Given the description of an element on the screen output the (x, y) to click on. 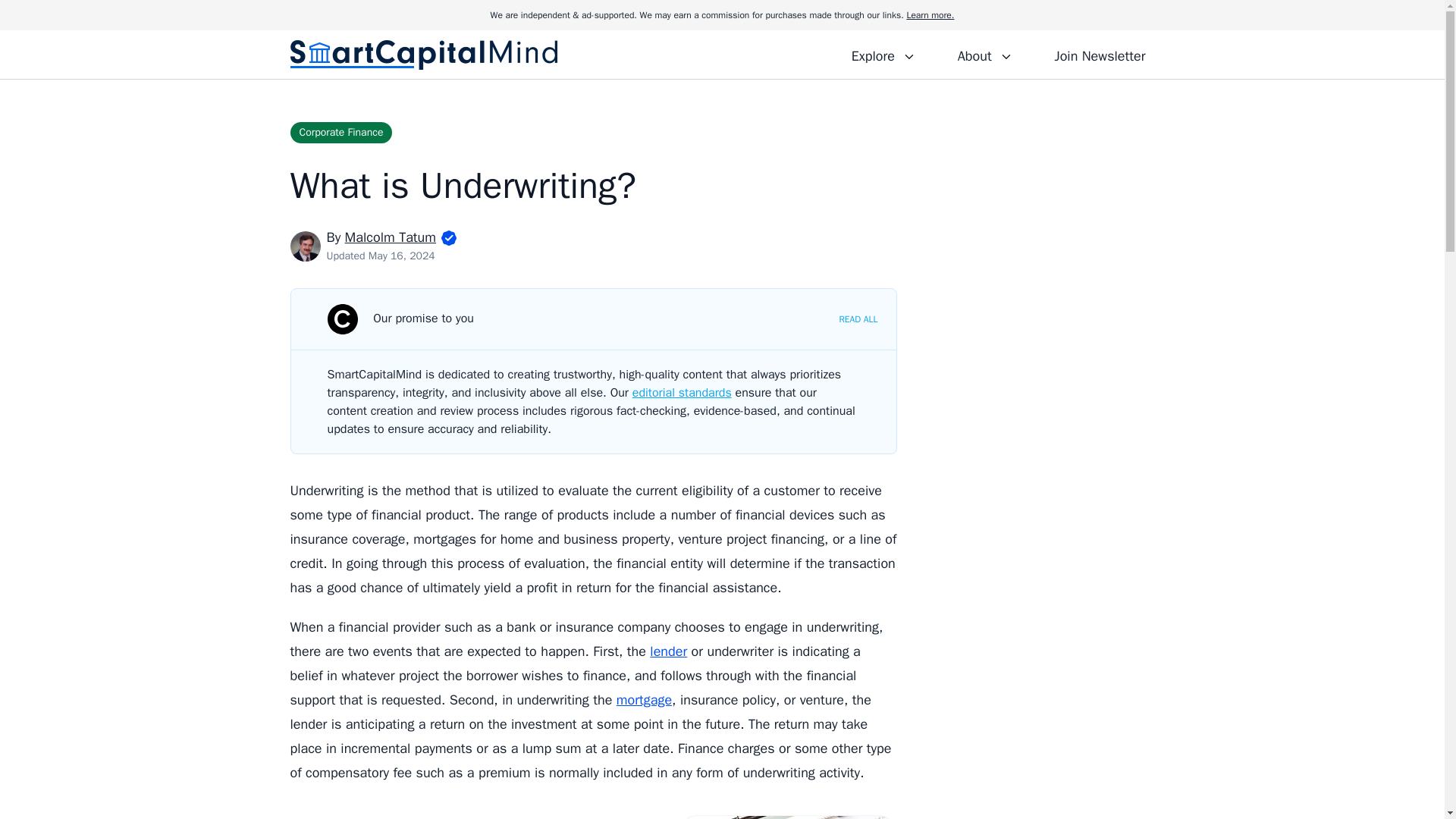
editorial standards (681, 393)
mortgage (643, 699)
Join Newsletter (1099, 54)
Malcolm Tatum (390, 237)
Explore (883, 54)
Corporate Finance (340, 132)
Learn more. (929, 15)
About (984, 54)
READ ALL (857, 318)
lender (668, 651)
